Given the description of an element on the screen output the (x, y) to click on. 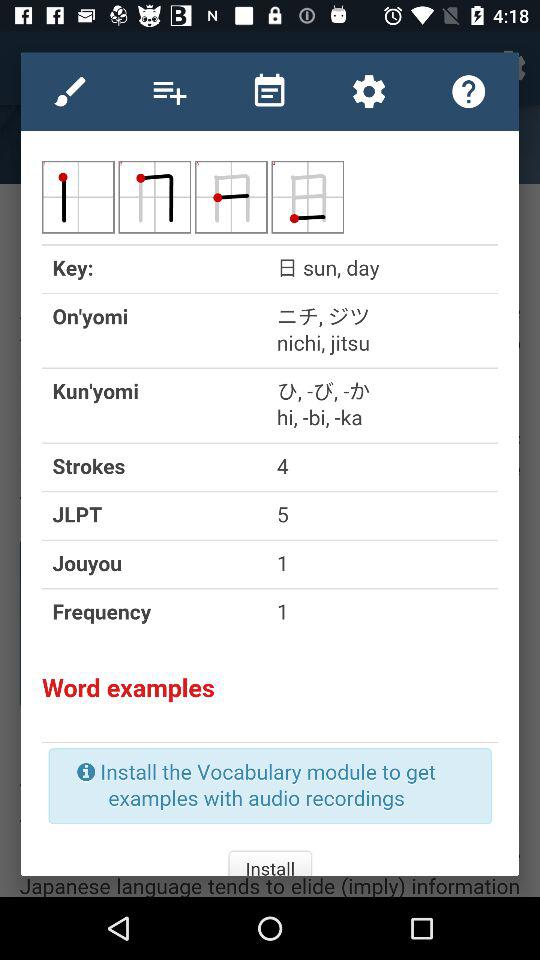
go to increase (169, 91)
